Given the description of an element on the screen output the (x, y) to click on. 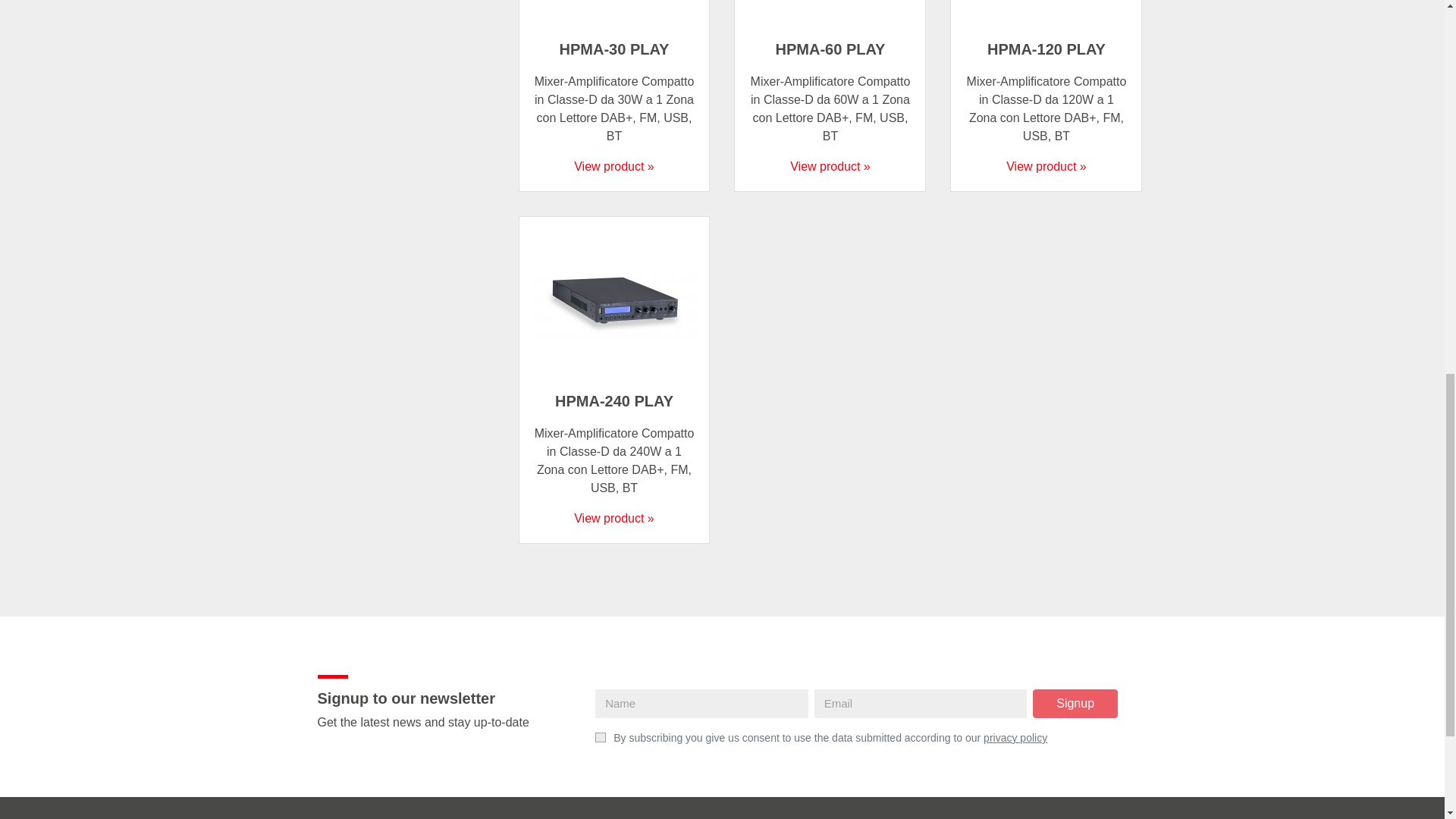
Signup (1075, 703)
privacy policy (1015, 737)
